Given the description of an element on the screen output the (x, y) to click on. 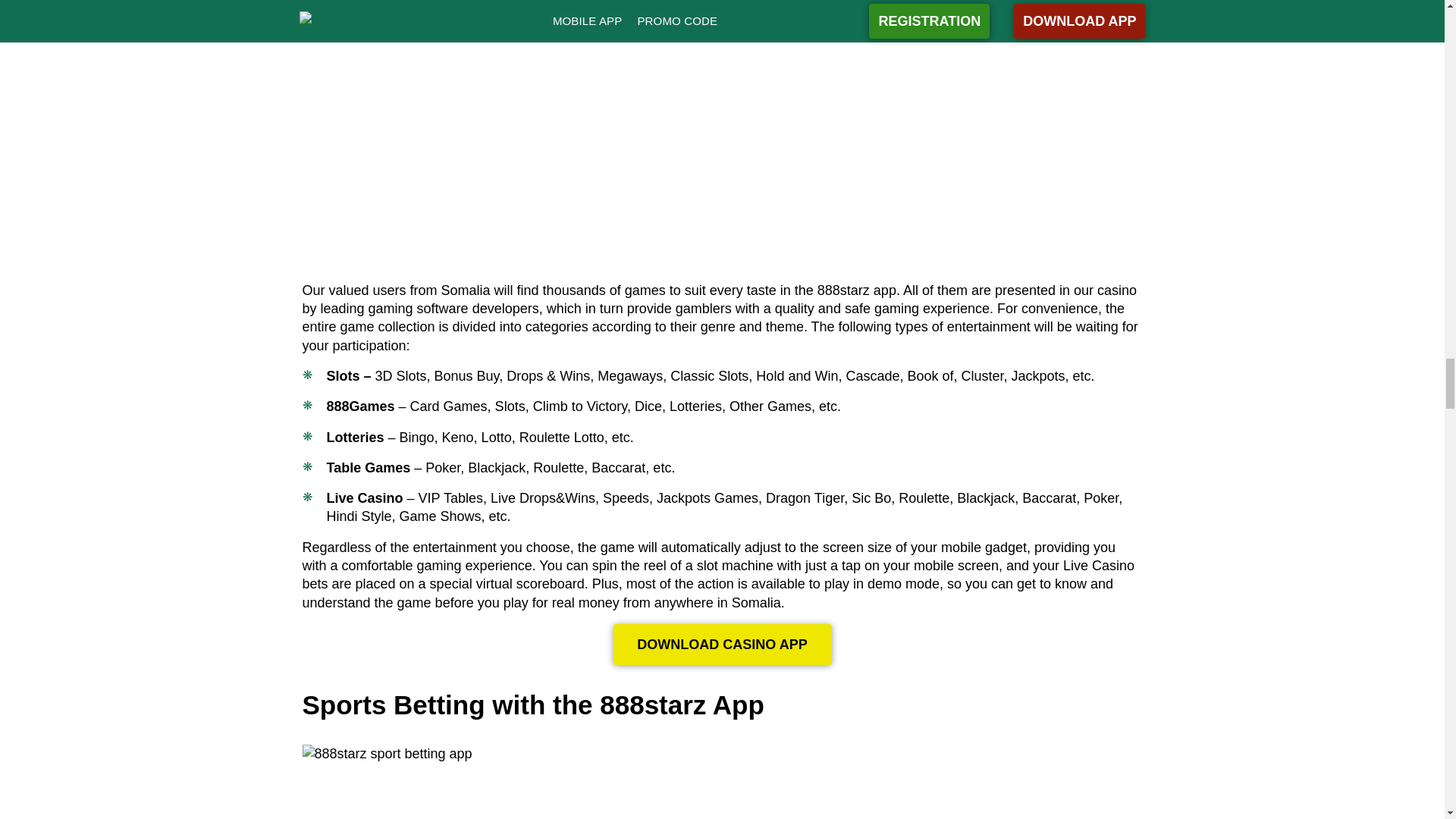
DOWNLOAD CASINO APP (721, 644)
